Given the description of an element on the screen output the (x, y) to click on. 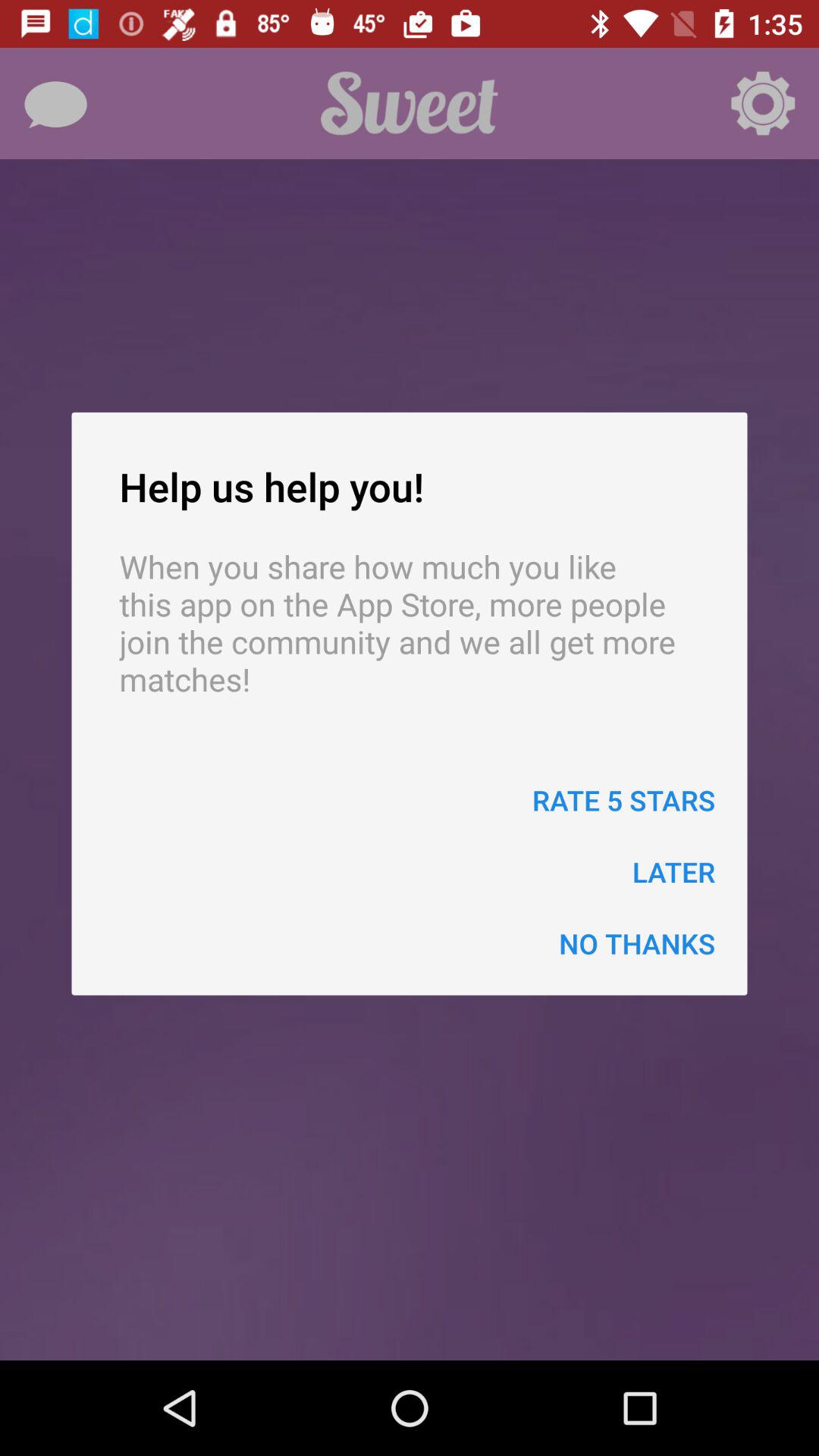
jump to rate 5 stars item (623, 800)
